Given the description of an element on the screen output the (x, y) to click on. 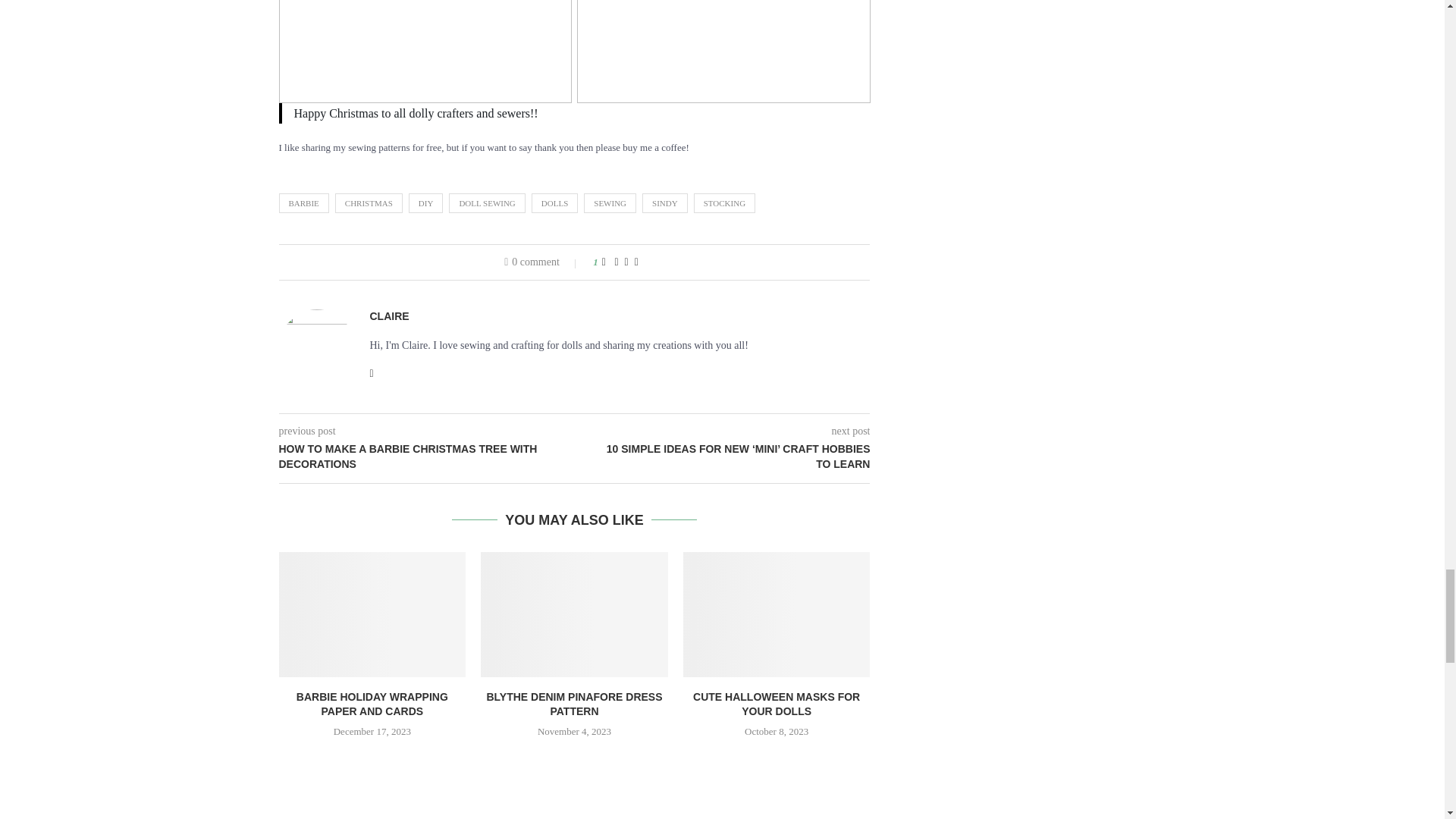
Blythe Denim Pinafore Dress Pattern (574, 614)
Author Claire (389, 316)
Cute Halloween masks for your dolls (776, 614)
Barbie holiday wrapping paper and cards (372, 614)
